Given the description of an element on the screen output the (x, y) to click on. 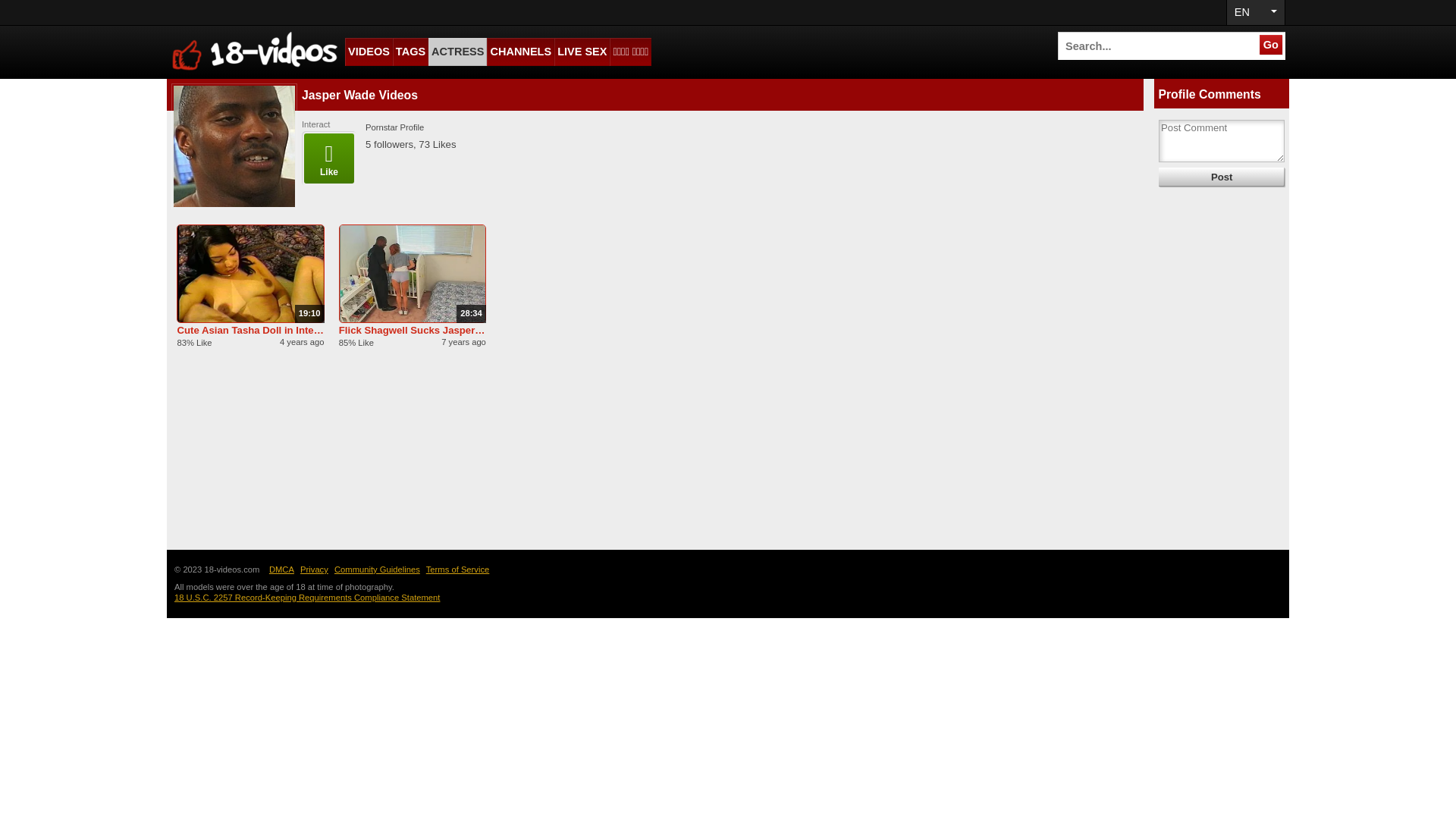
ACTRESS Element type: text (457, 51)
19:10 Element type: text (249, 273)
TAGS Element type: text (410, 51)
VIDEOS Element type: text (368, 51)
Post Element type: text (1221, 176)
Privacy Element type: text (316, 569)
Flick Shagwell Sucks Jasper Wade Dark Meat Element type: text (412, 330)
EN Element type: text (1255, 12)
DMCA Element type: text (283, 569)
Go Element type: text (1270, 44)
Community Guidelines Element type: text (378, 569)
Like Element type: text (328, 158)
CHANNELS Element type: text (520, 51)
28:34 Element type: text (412, 273)
LIVE SEX Element type: text (581, 51)
Terms of Service Element type: text (459, 569)
Cute Asian Tasha Doll in Interracial Sex Element type: text (249, 330)
